Given the description of an element on the screen output the (x, y) to click on. 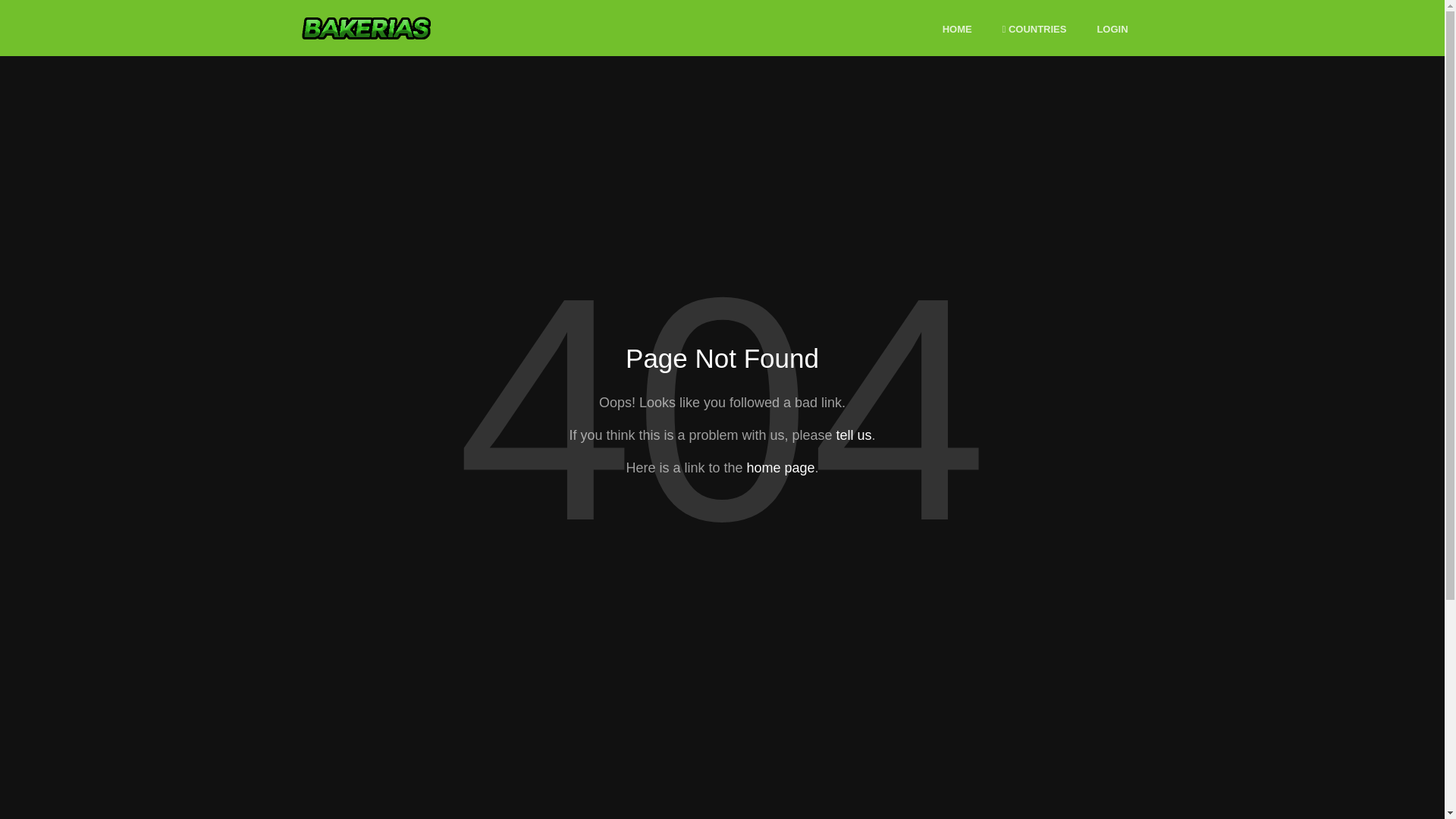
HOME (957, 29)
home page (779, 467)
tell us (852, 435)
